Given the description of an element on the screen output the (x, y) to click on. 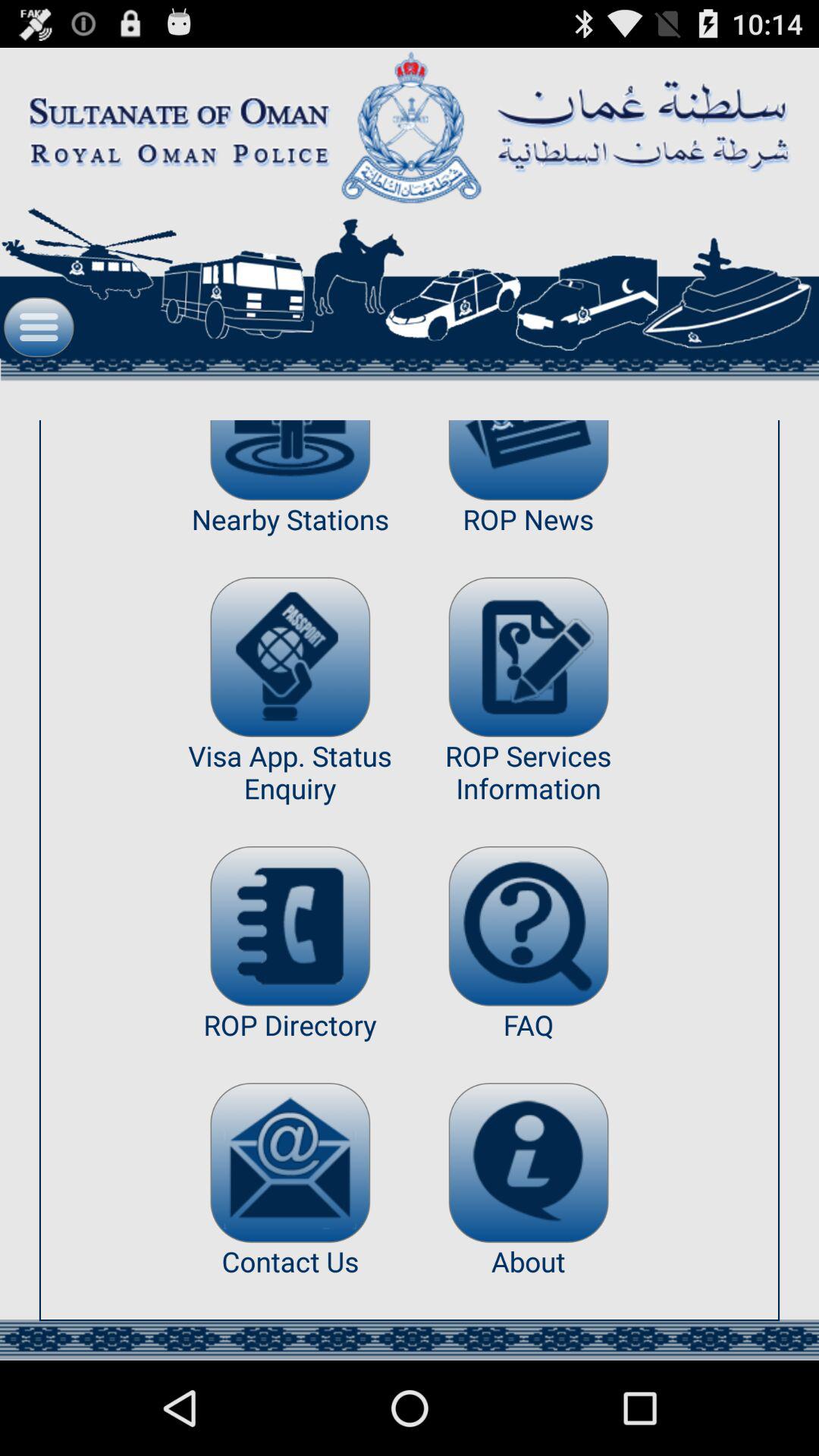
open menu (38, 327)
